Given the description of an element on the screen output the (x, y) to click on. 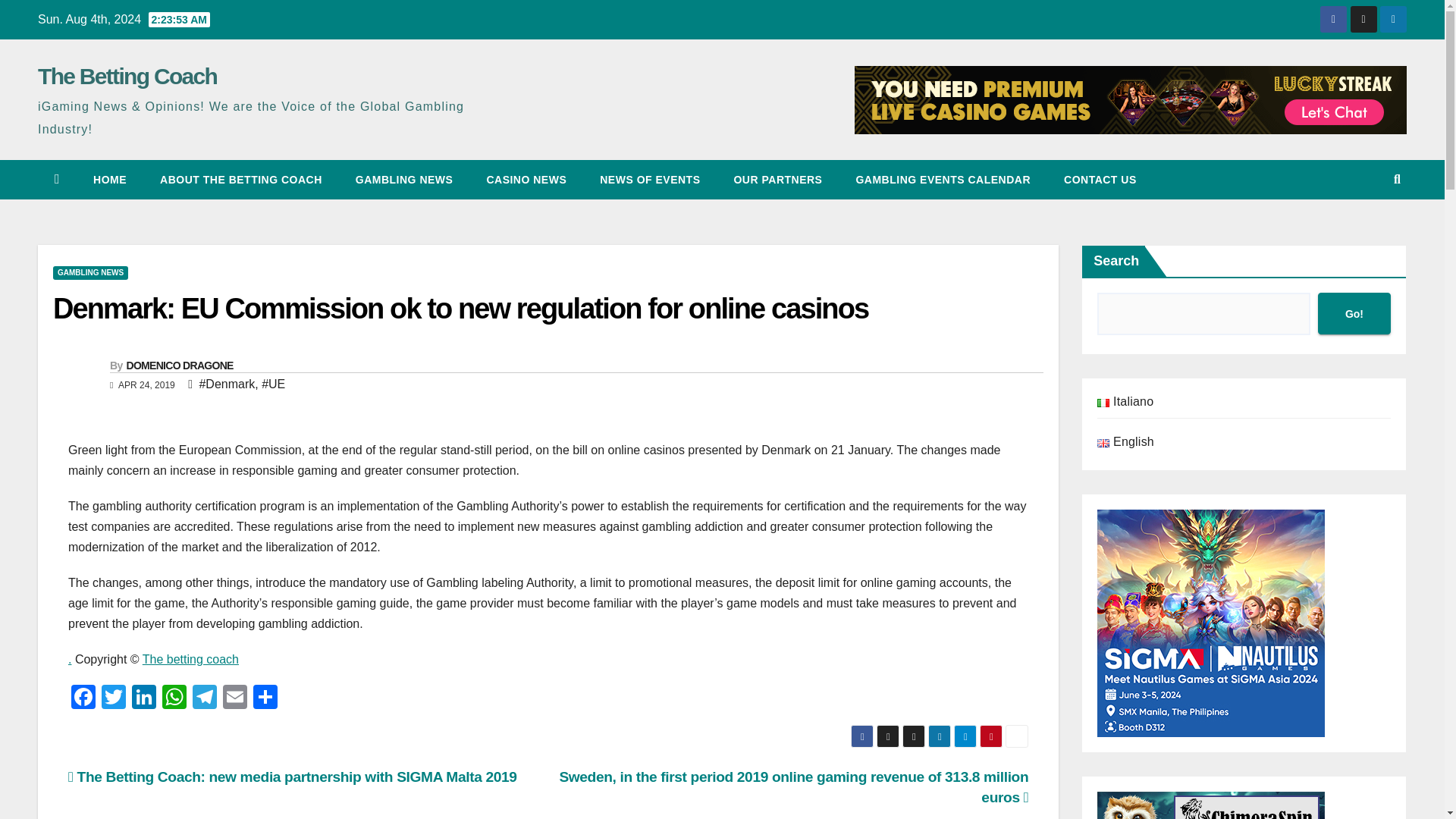
LinkedIn (143, 698)
NEWS OF EVENTS (649, 179)
GAMBLING NEWS (404, 179)
The betting coach (190, 658)
Twitter (114, 698)
ABOUT THE BETTING COACH (240, 179)
Email (234, 698)
CONTACT US (1099, 179)
Facebook (83, 698)
Home (109, 179)
OUR PARTNERS (777, 179)
Telegram (204, 698)
CASINO NEWS (525, 179)
